Given the description of an element on the screen output the (x, y) to click on. 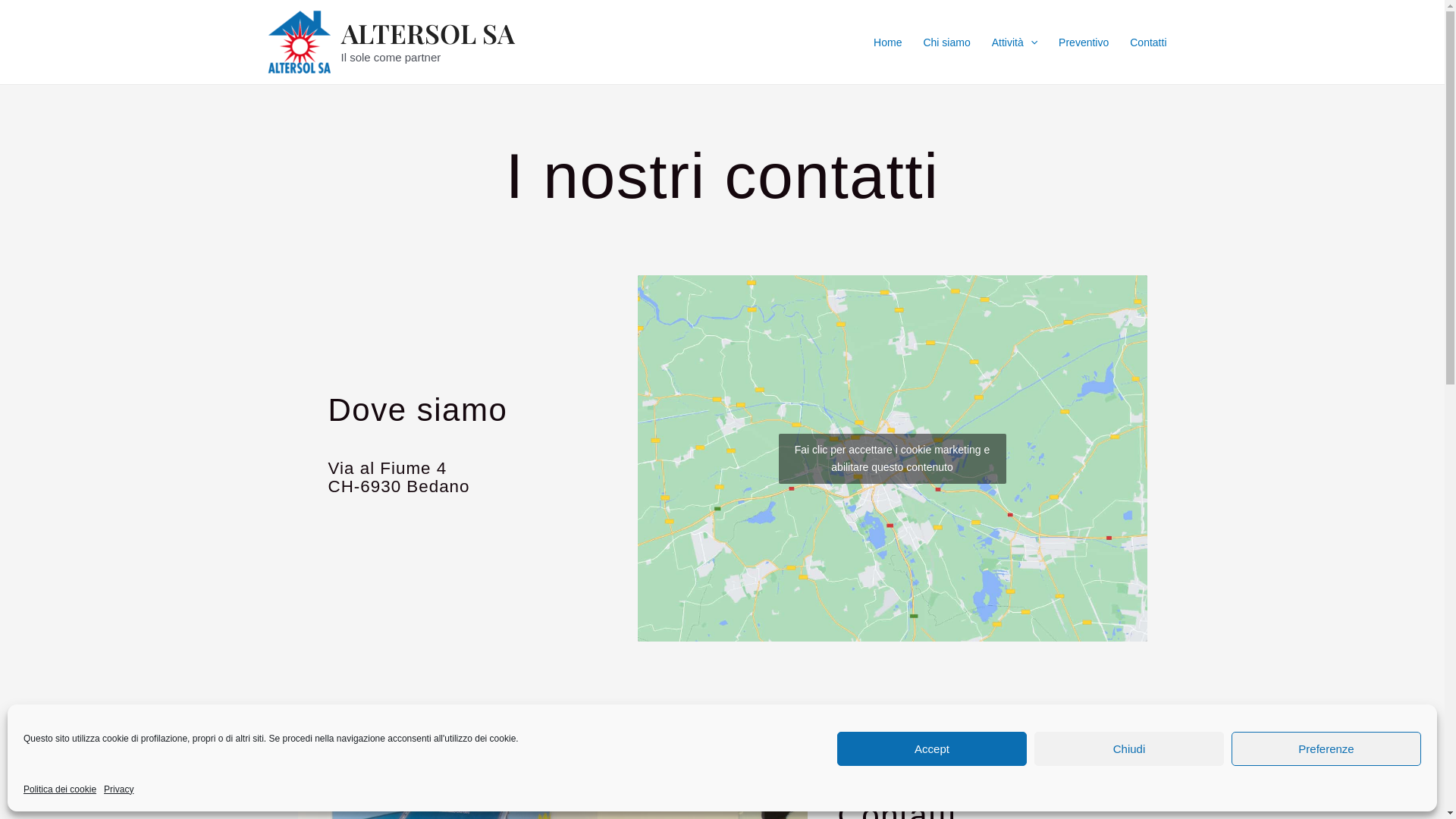
Chiudi Element type: text (1128, 748)
Chi siamo Element type: text (946, 41)
Preferenze Element type: text (1326, 748)
Contatti Element type: text (1147, 41)
Politica dei cookie Element type: text (59, 790)
Privacy Element type: text (118, 790)
Home Element type: text (887, 41)
Preventivo Element type: text (1083, 41)
Accept Element type: text (931, 748)
ALTERSOL SA Element type: text (427, 32)
